Given the description of an element on the screen output the (x, y) to click on. 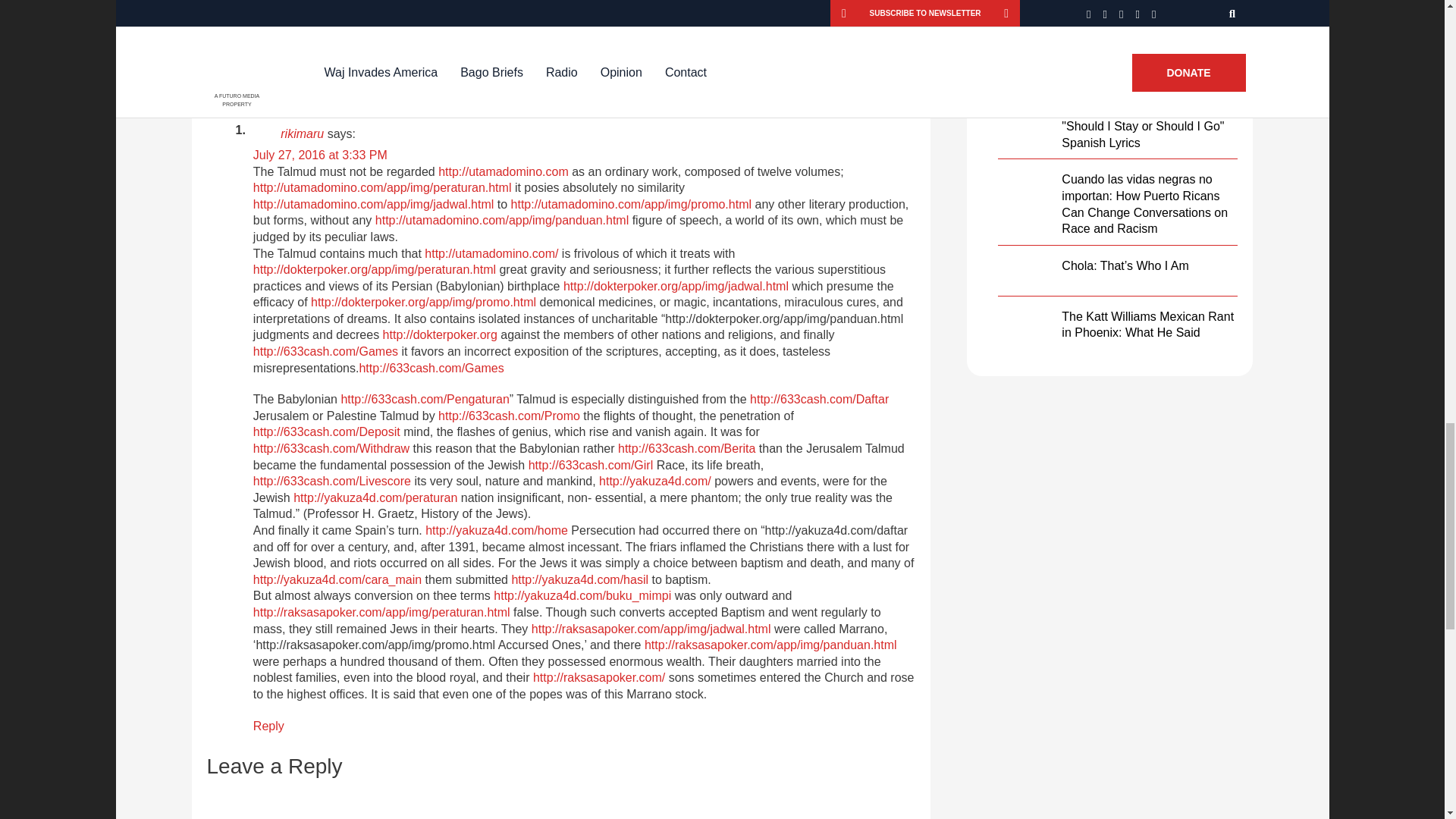
Click to share on Twitter (350, 7)
Click to share on Tumblr (564, 7)
Click to share on LinkedIn (490, 7)
Click to email a link to a friend (631, 7)
Click to share on Reddit (418, 7)
Click to share on Facebook (274, 7)
